Given the description of an element on the screen output the (x, y) to click on. 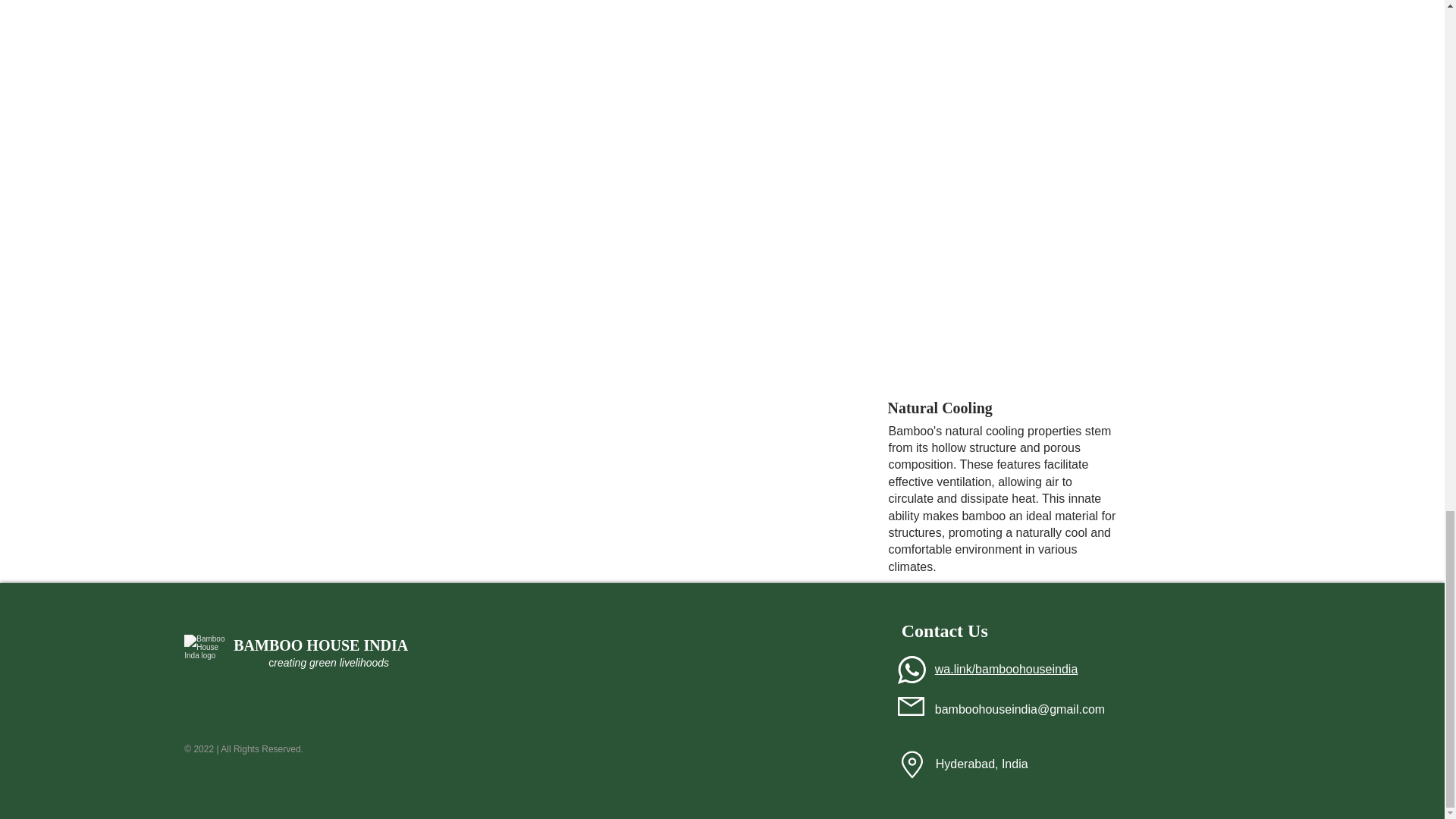
creating green livelihoods (327, 662)
BAMBOO HOUSE INDIA (319, 645)
Home (205, 652)
